Given the description of an element on the screen output the (x, y) to click on. 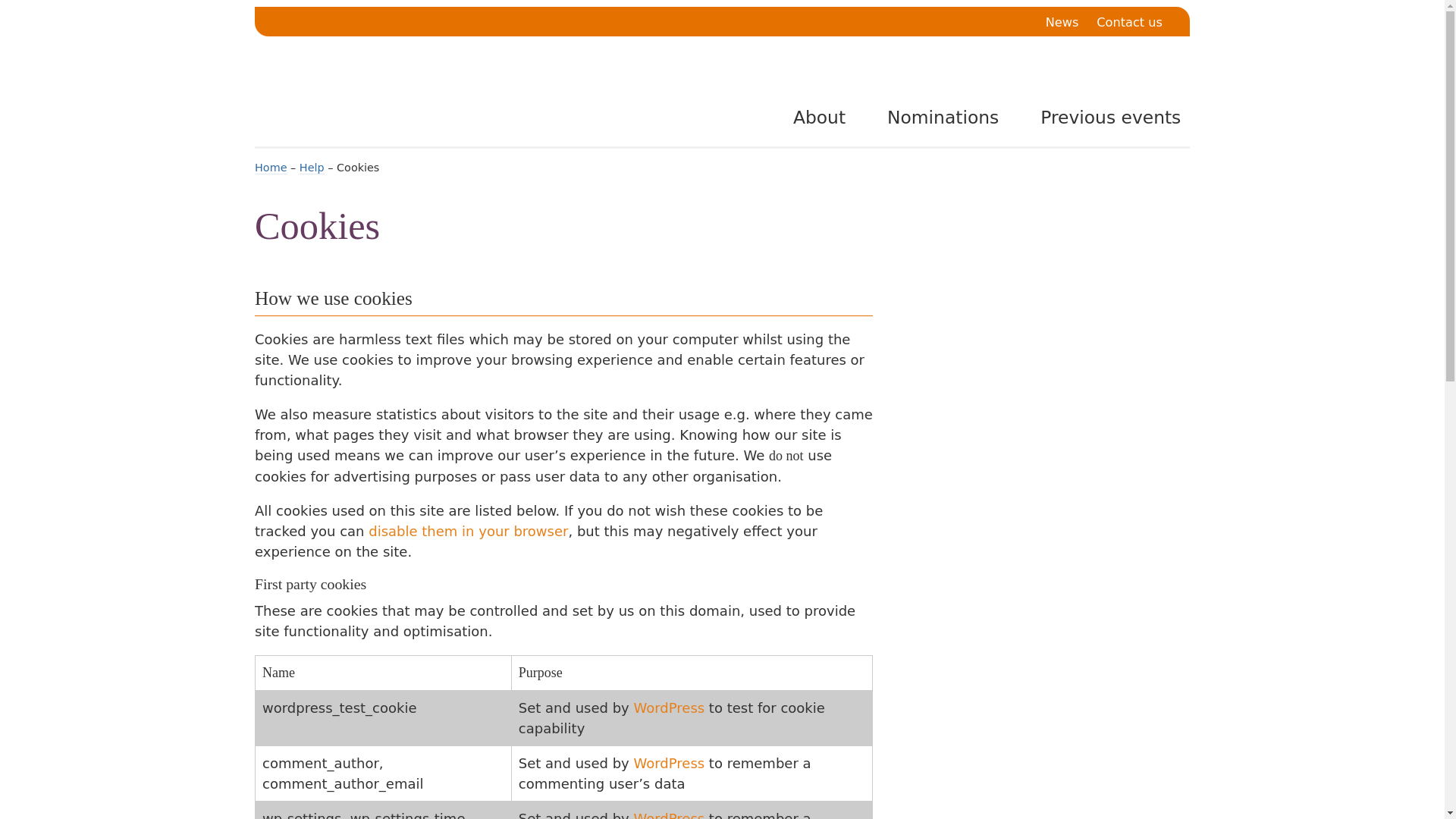
WordPress (668, 763)
Go to Help. (311, 167)
Nominations (933, 117)
Previous events (1100, 117)
Cygnet Health Care (420, 98)
Help (311, 167)
Contact us (1128, 22)
Go to National Lived Experience Awards. (270, 167)
WordPress (668, 707)
disable them in your browser (467, 530)
WordPress (668, 814)
Home (270, 167)
About (808, 117)
News (1061, 22)
